Given the description of an element on the screen output the (x, y) to click on. 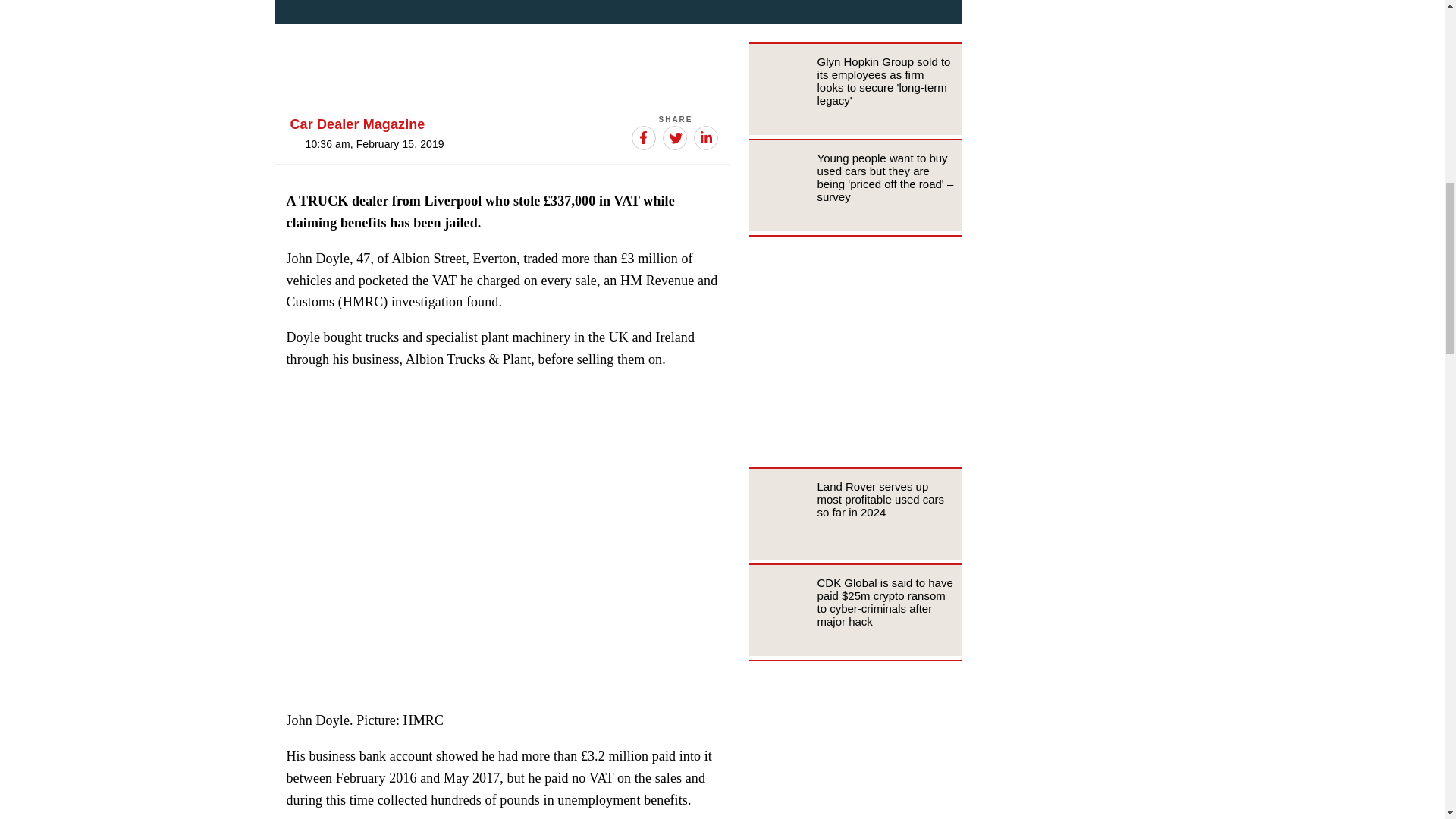
Car Dealer Magazine (357, 124)
Posts by Car Dealer Magazine (357, 124)
